Given the description of an element on the screen output the (x, y) to click on. 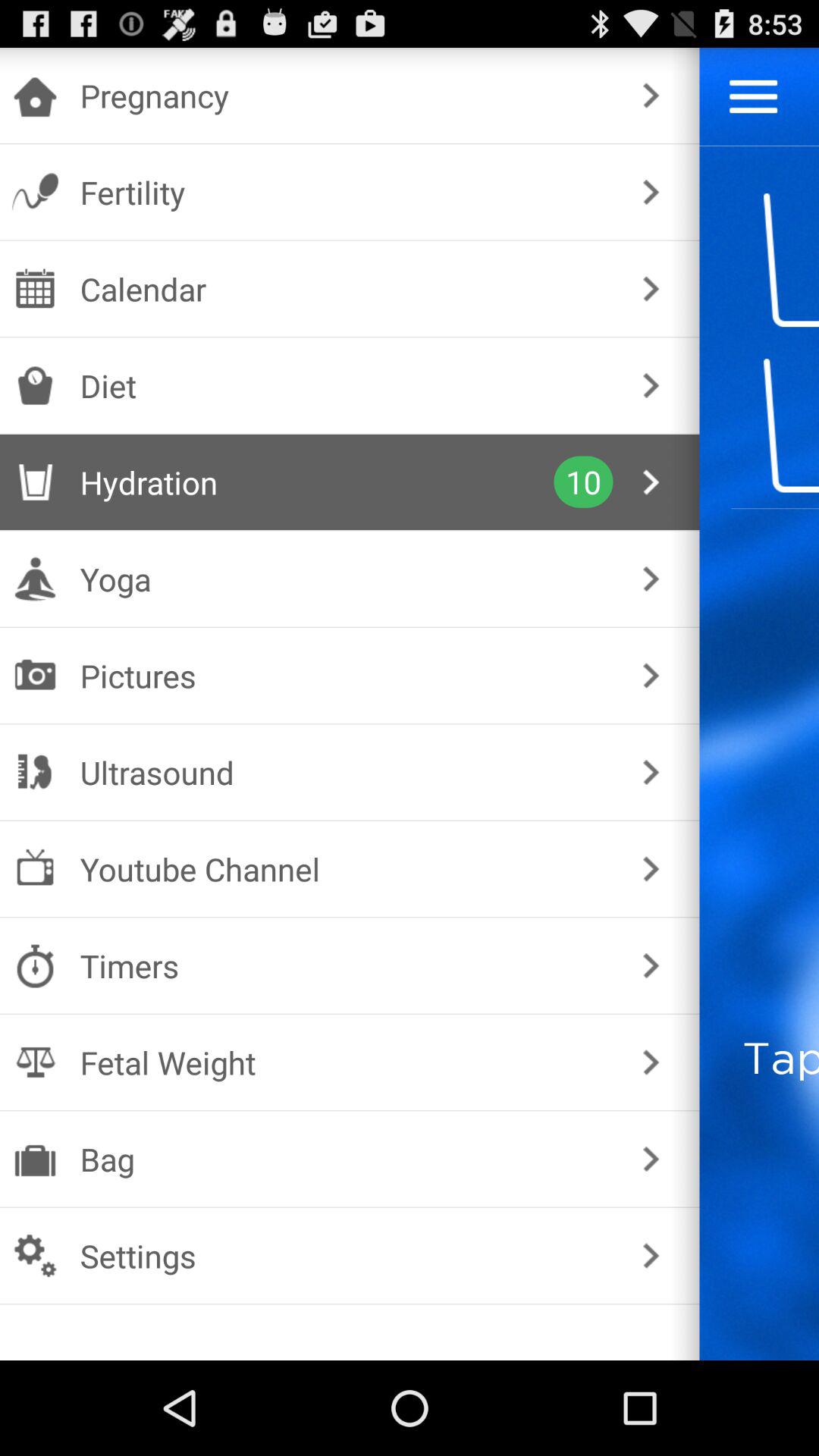
tap the icon to the left of the 10 (316, 481)
